Given the description of an element on the screen output the (x, y) to click on. 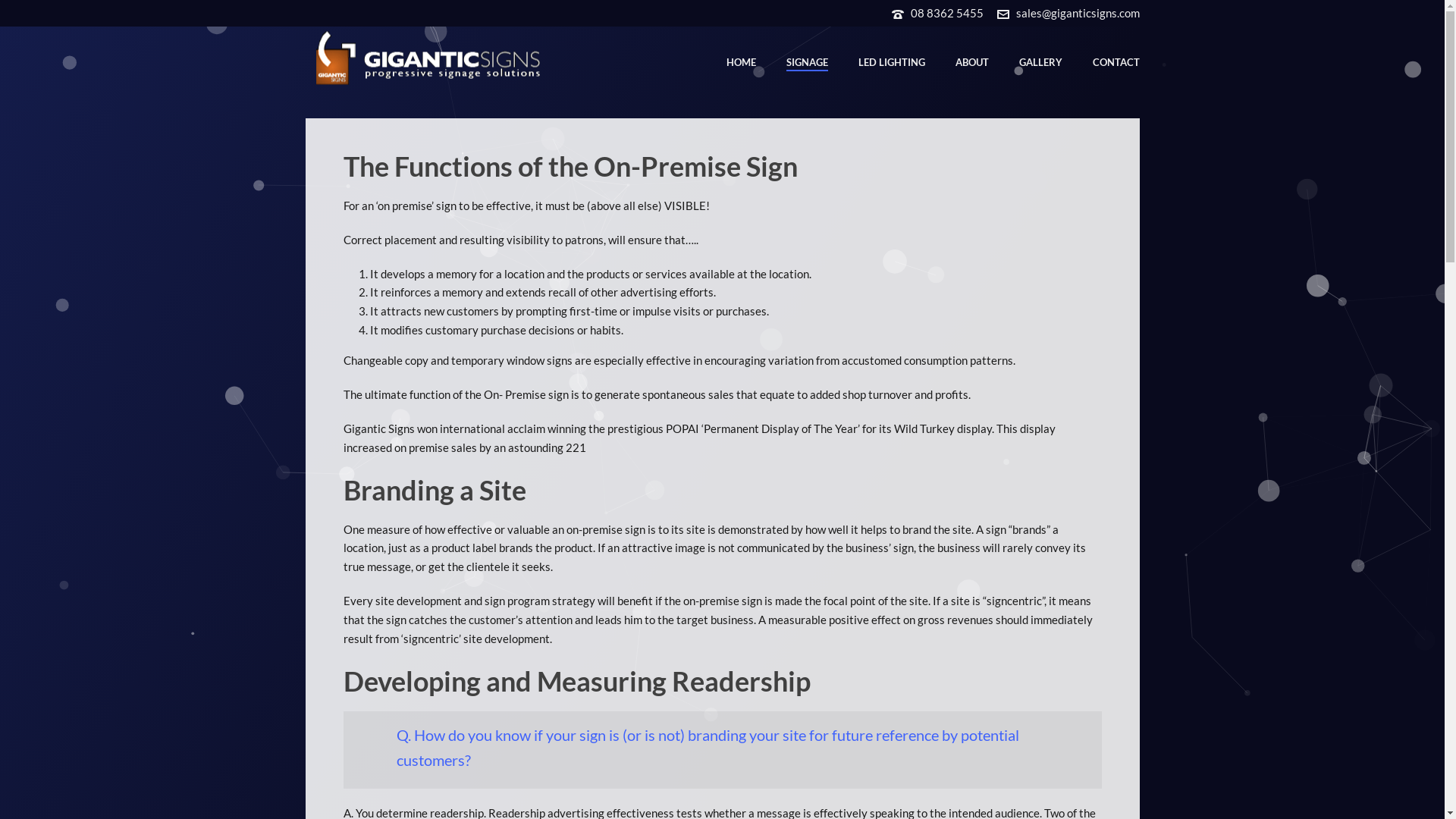
SIGNAGE Element type: text (806, 62)
sales@giganticsigns.com Element type: text (1077, 12)
08 8362 5455 Element type: text (946, 12)
ABOUT Element type: text (972, 62)
GALLERY Element type: text (1040, 62)
CONTACT Element type: text (1115, 62)
LED LIGHTING Element type: text (891, 62)
HOME Element type: text (741, 62)
